Given the description of an element on the screen output the (x, y) to click on. 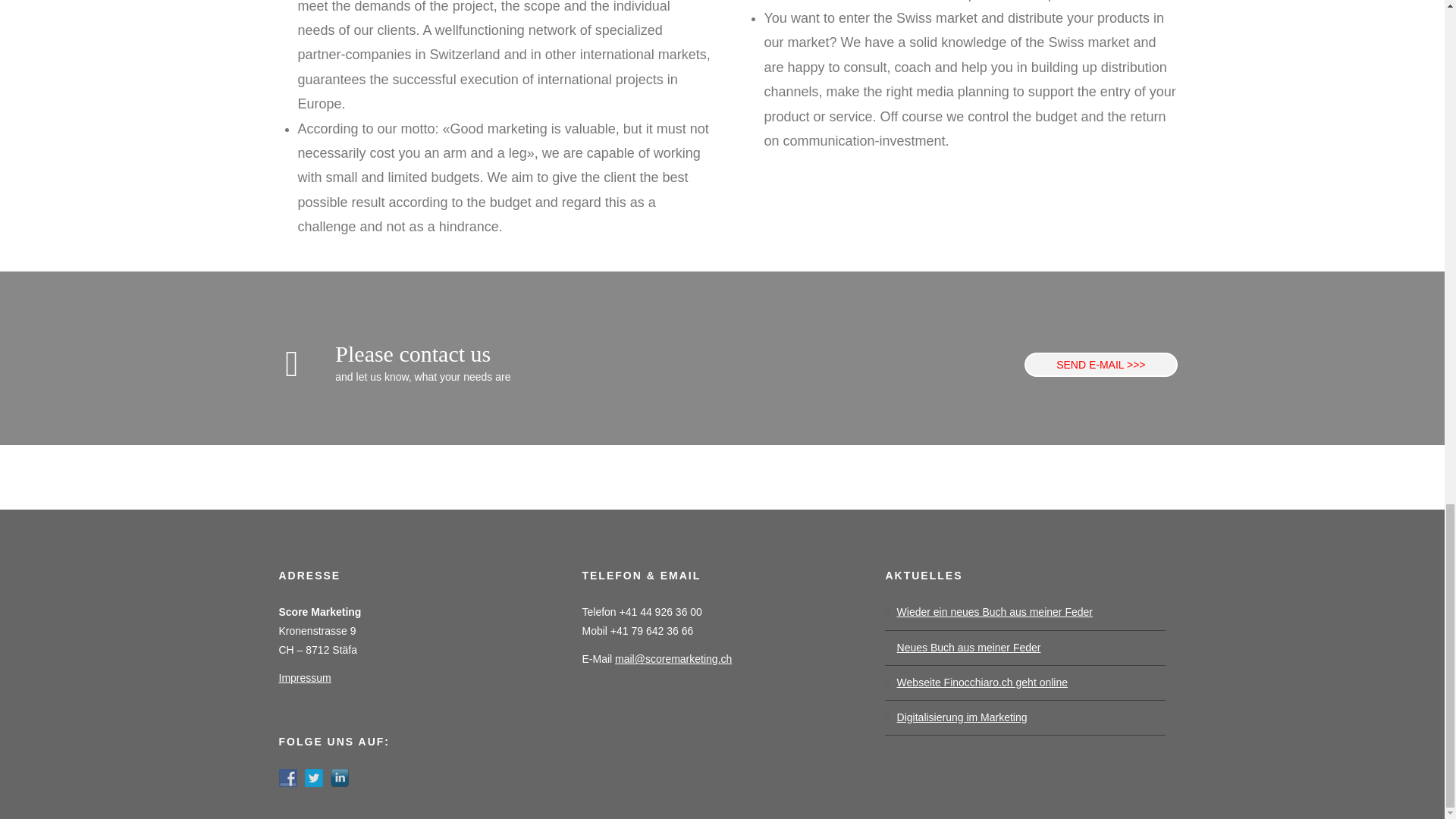
Link (1100, 364)
 Facebook (288, 778)
 Twitter (313, 778)
 LinkedIn (339, 778)
